Given the description of an element on the screen output the (x, y) to click on. 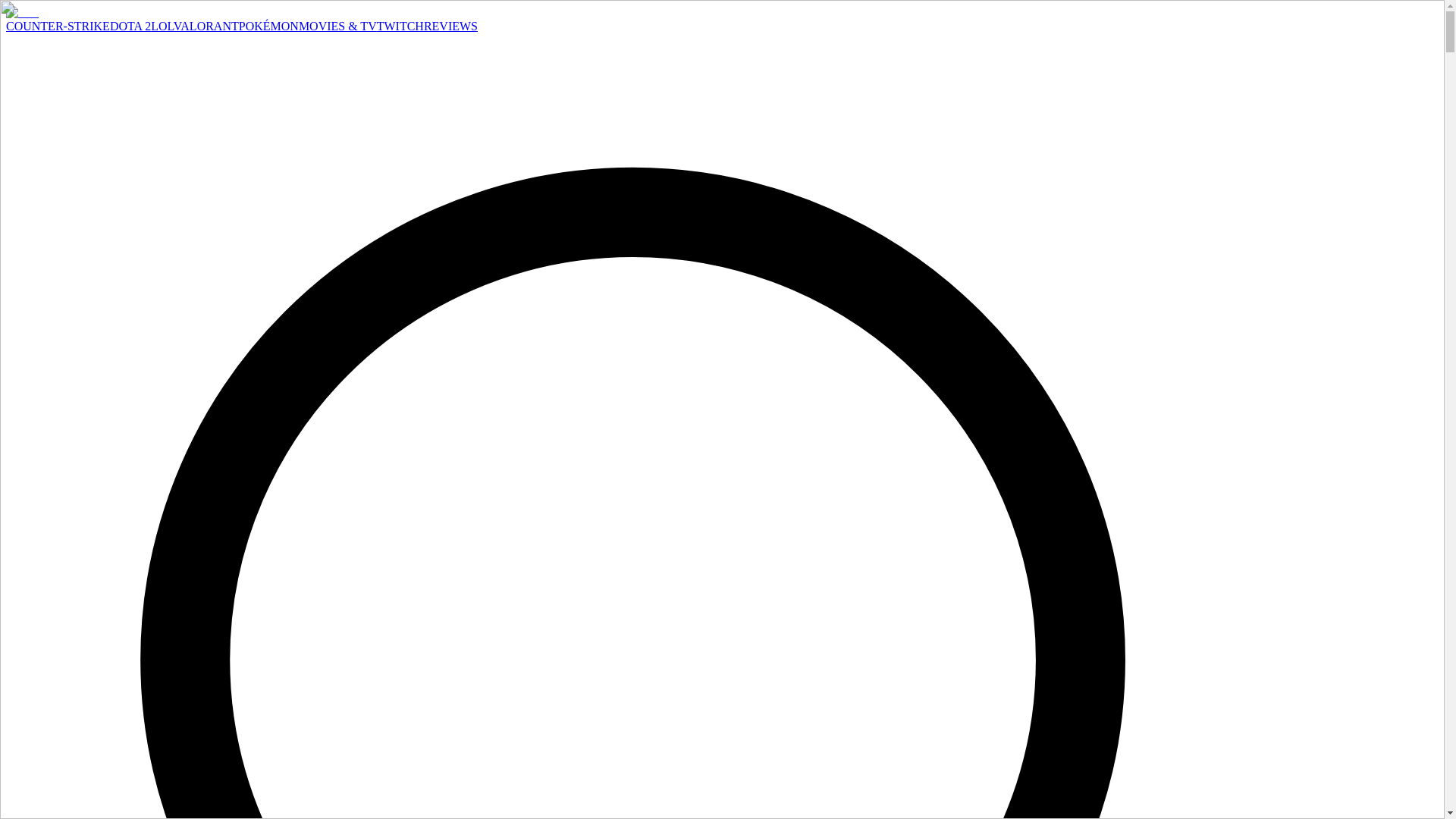
VALORANT (205, 25)
LOL (162, 25)
DOTA 2 (130, 25)
REVIEWS (450, 25)
COUNTER-STRIKE (57, 25)
TWITCH (400, 25)
